Given the description of an element on the screen output the (x, y) to click on. 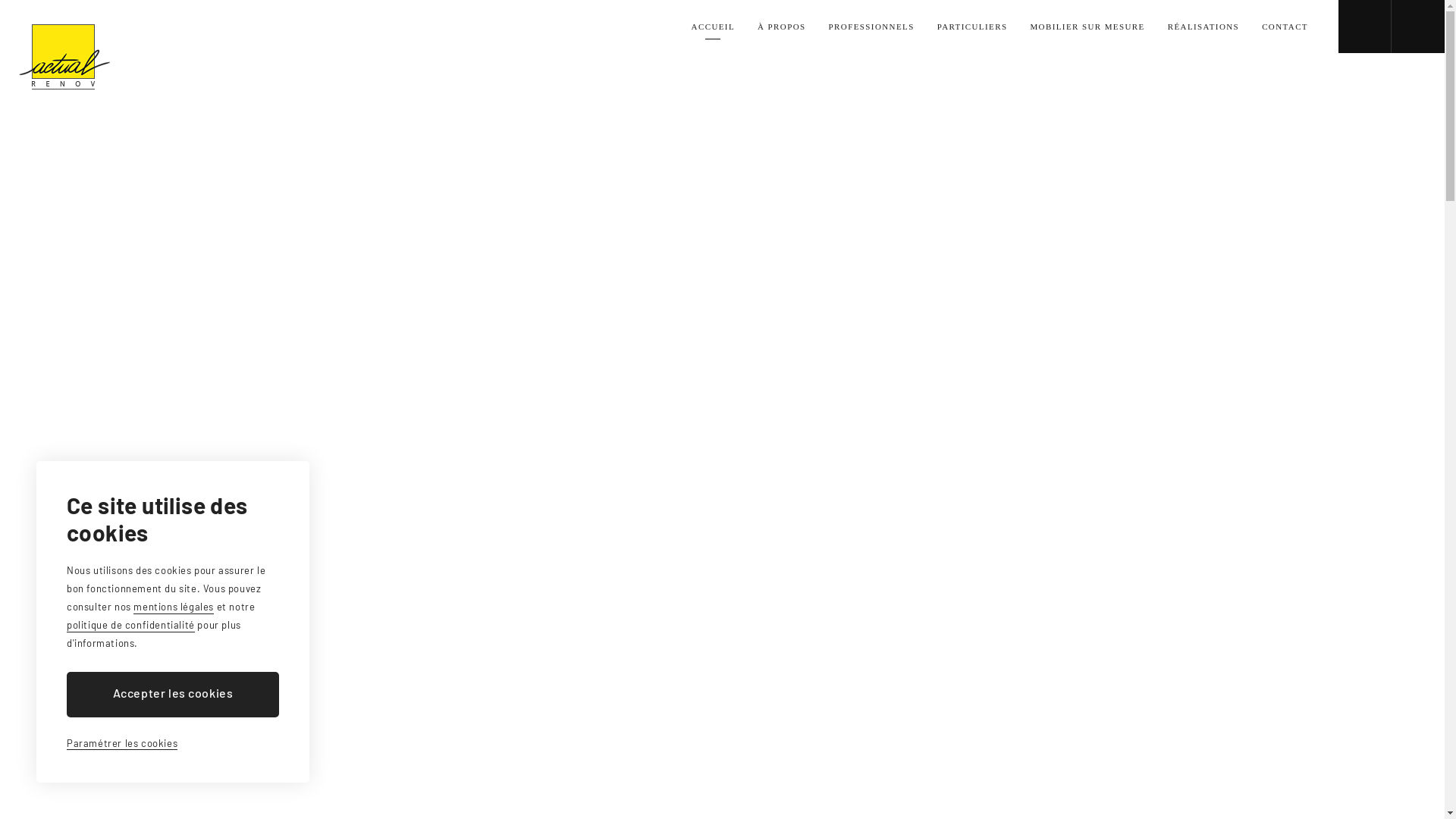
ACCUEIL Element type: text (712, 26)
MOBILIER SUR MESURE Element type: text (1086, 26)
Actual Renov Element type: hover (64, 56)
PROFESSIONNELS Element type: text (871, 26)
PARTICULIERS Element type: text (972, 26)
CONTACT Element type: text (1284, 26)
